Given the description of an element on the screen output the (x, y) to click on. 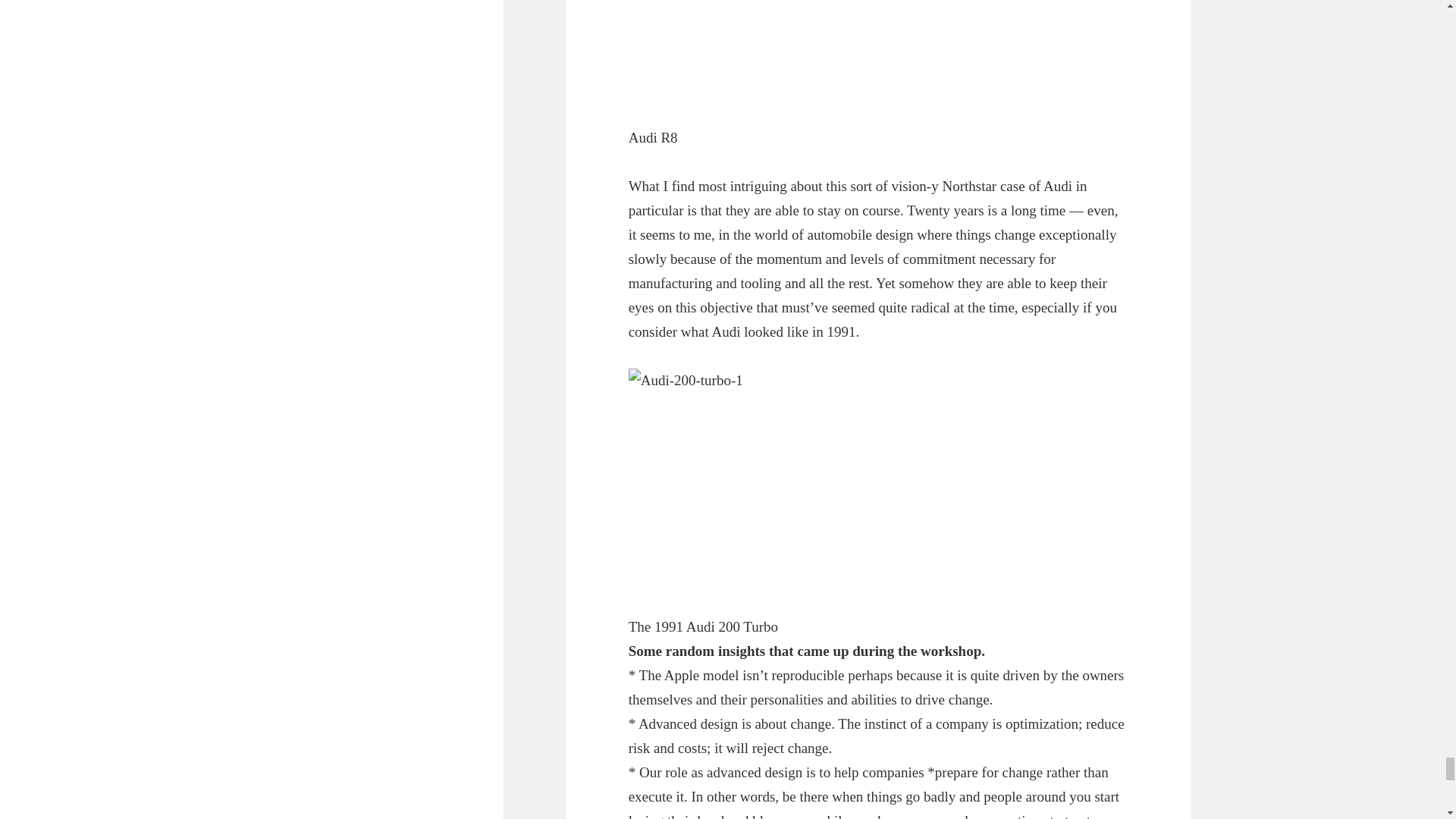
audi-r8 by nearfuturelab, on Flickr (878, 50)
Audi-200-turbo-1 by nearfuturelab, on Flickr (878, 479)
